Given the description of an element on the screen output the (x, y) to click on. 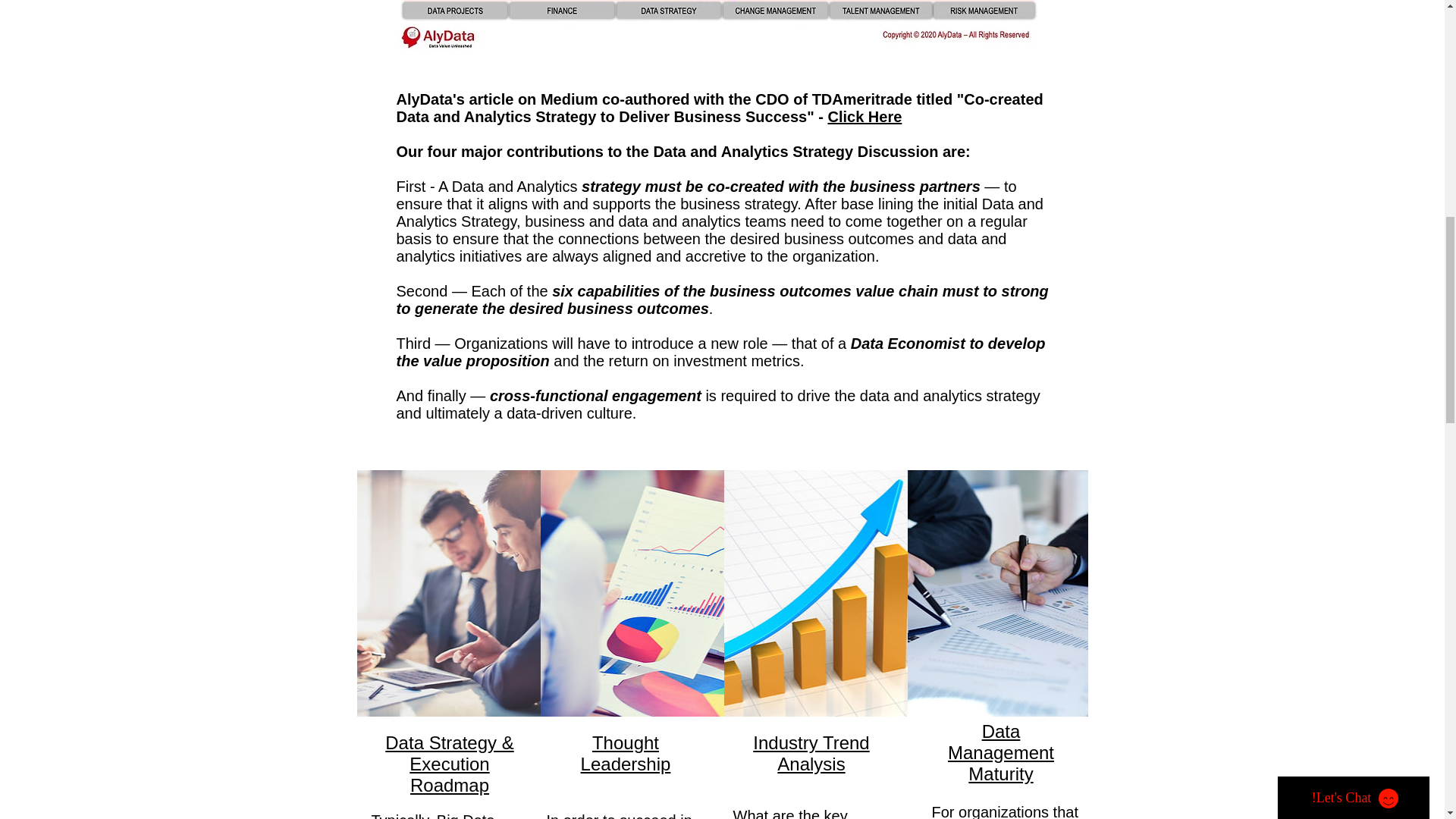
Thought Leadership (625, 752)
Industry Trend Analysis (810, 752)
Data Management Maturity (1000, 752)
Click Here (864, 116)
